Given the description of an element on the screen output the (x, y) to click on. 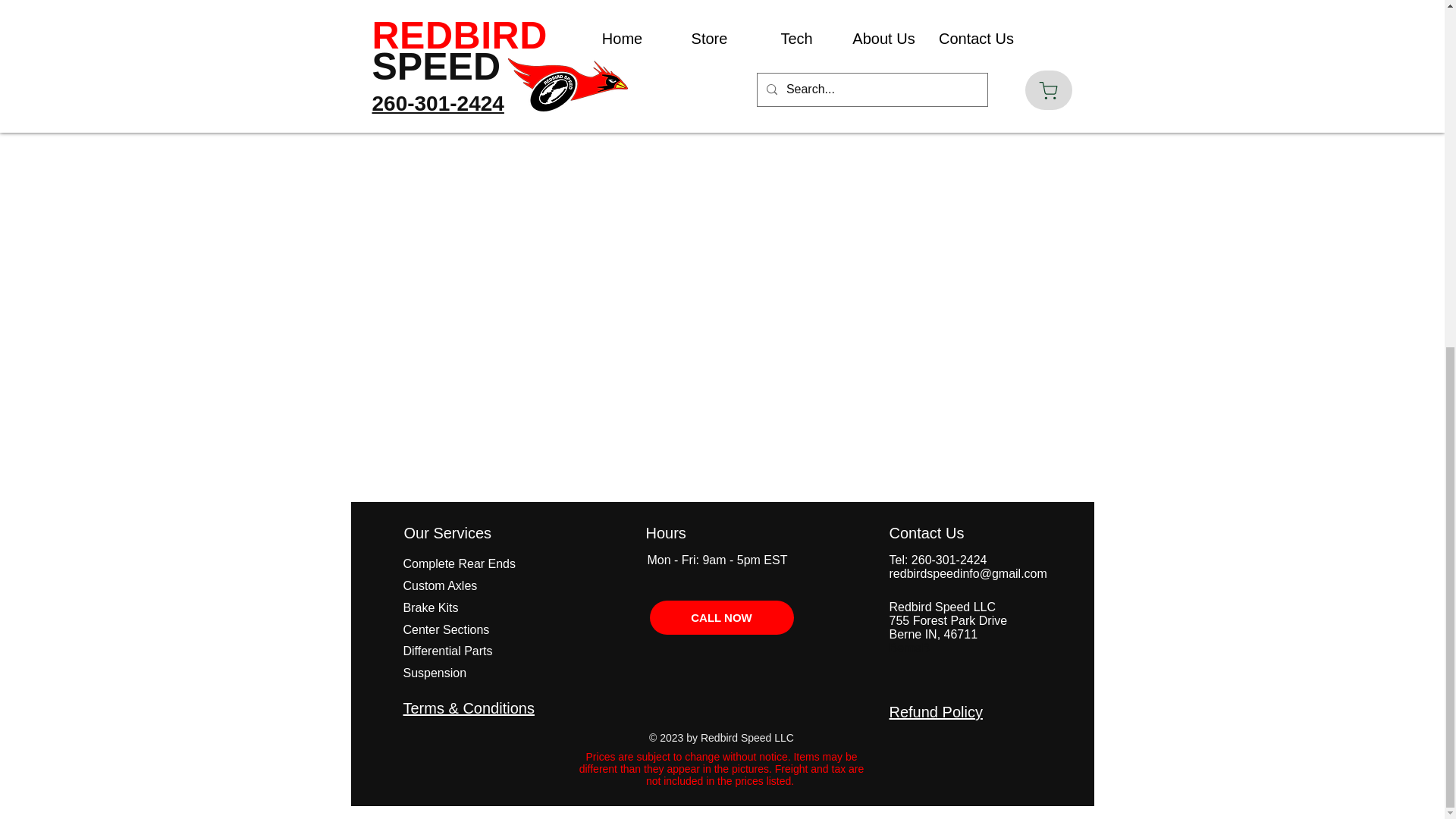
CALL NOW (721, 617)
Refund Policy (934, 711)
